Given the description of an element on the screen output the (x, y) to click on. 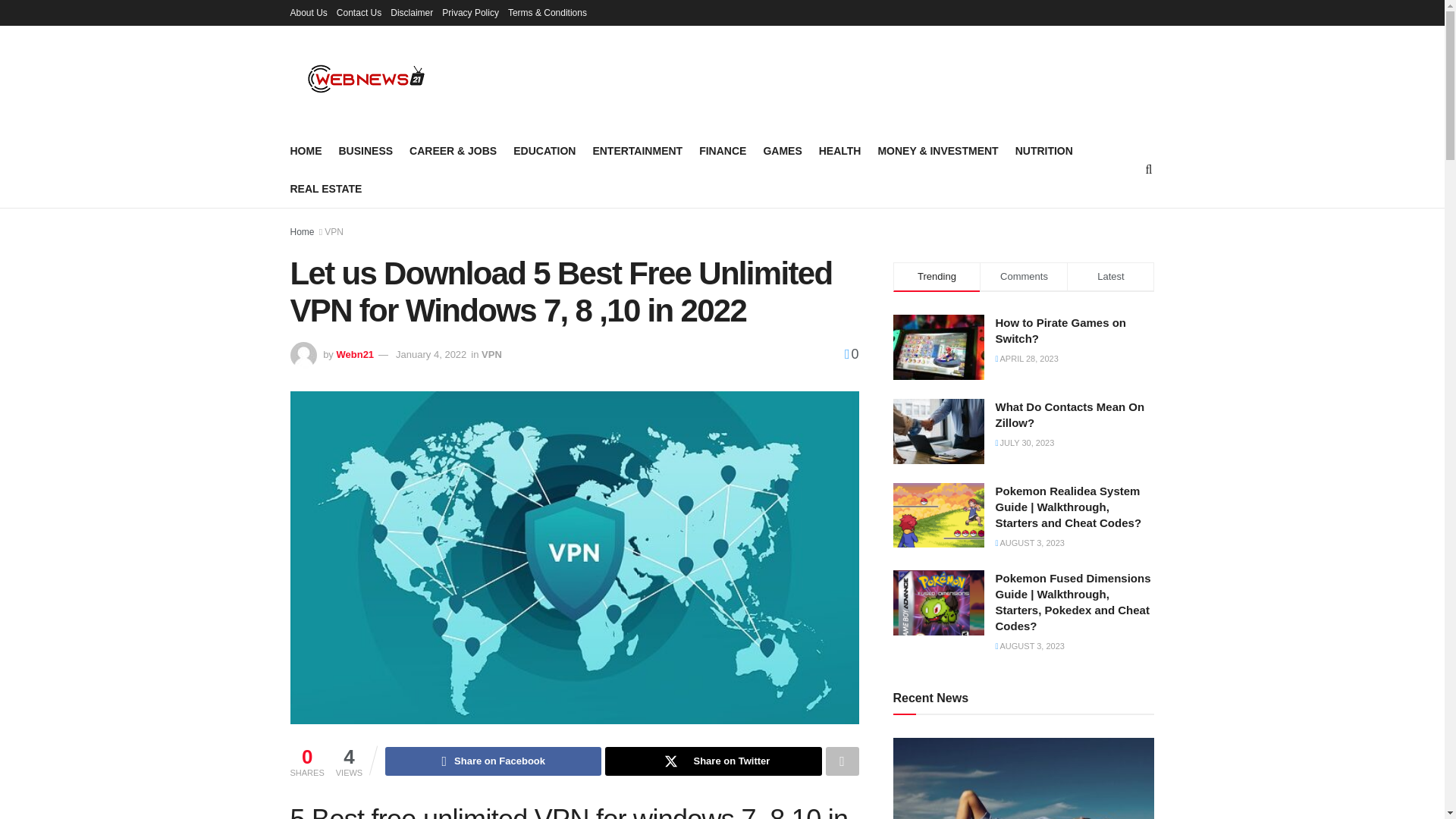
NUTRITION (1043, 150)
REAL ESTATE (325, 188)
GAMES (782, 150)
VPN (333, 231)
January 4, 2022 (430, 354)
HOME (305, 150)
Contact Us (358, 12)
BUSINESS (365, 150)
Disclaimer (411, 12)
About Us (307, 12)
